Given the description of an element on the screen output the (x, y) to click on. 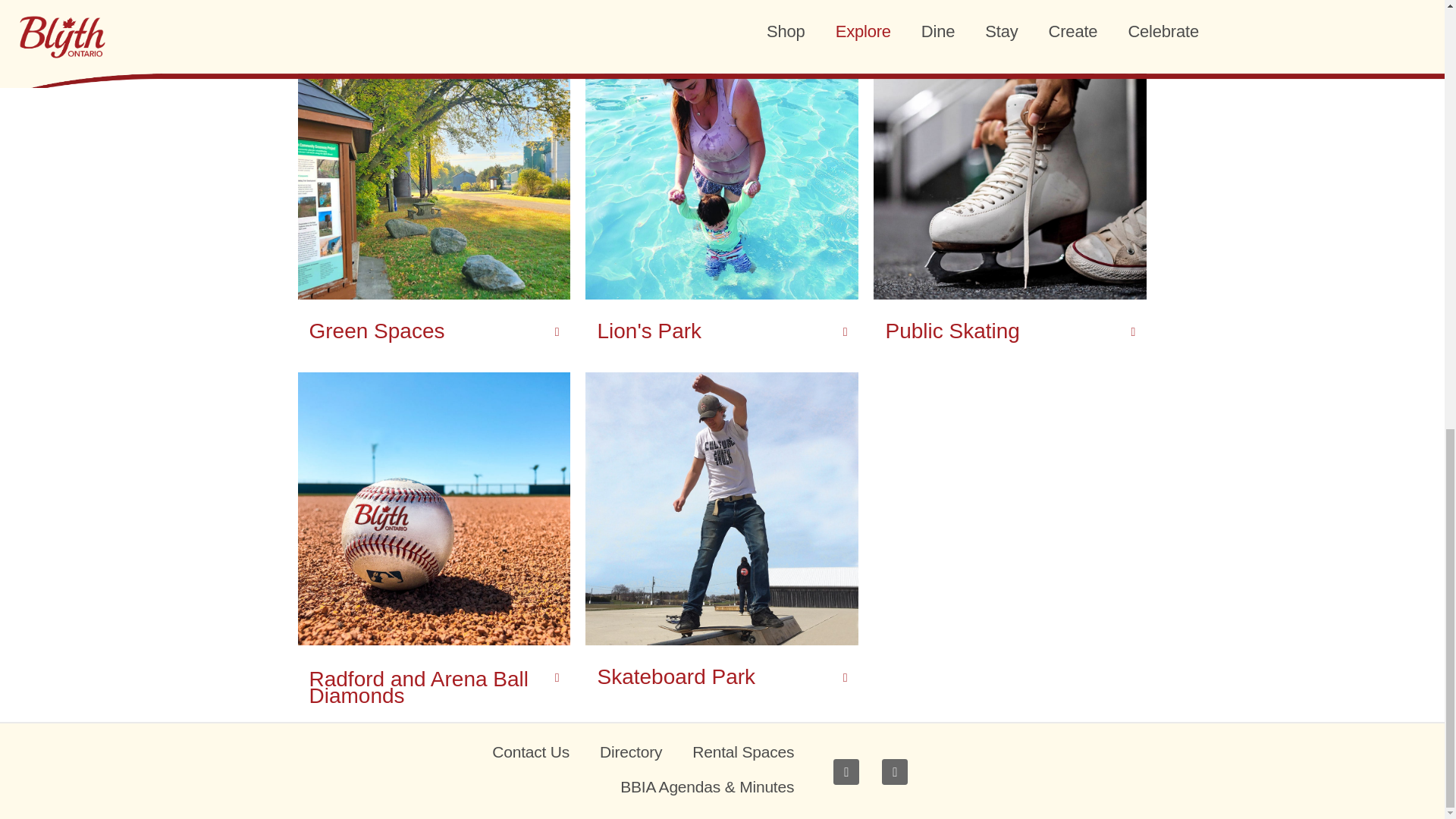
Blyth Repository of History (397, 5)
